Given the description of an element on the screen output the (x, y) to click on. 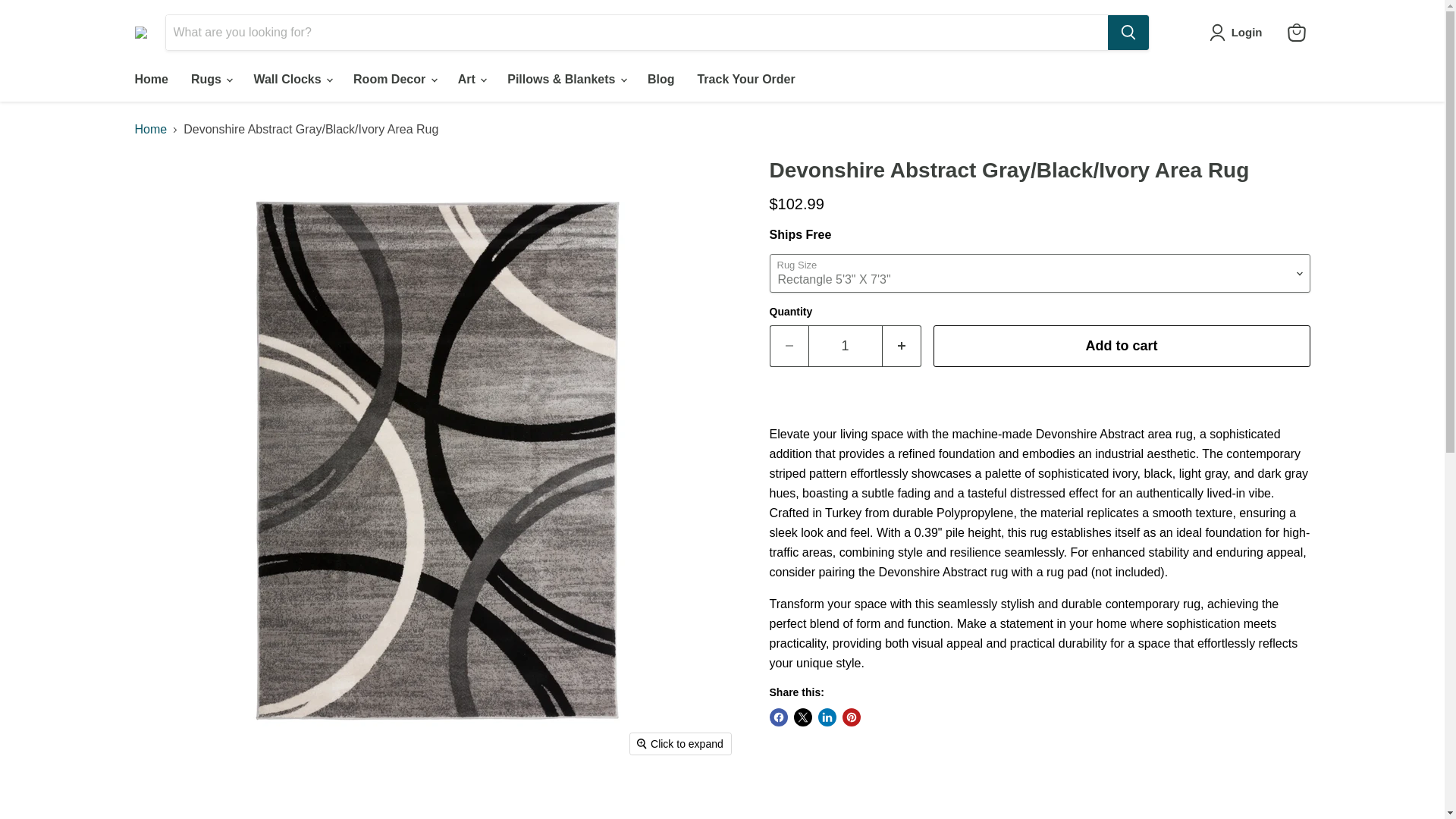
Home (150, 79)
View cart (1296, 32)
1 (845, 345)
Login (1238, 32)
Blog (660, 79)
Track Your Order (745, 79)
